Given the description of an element on the screen output the (x, y) to click on. 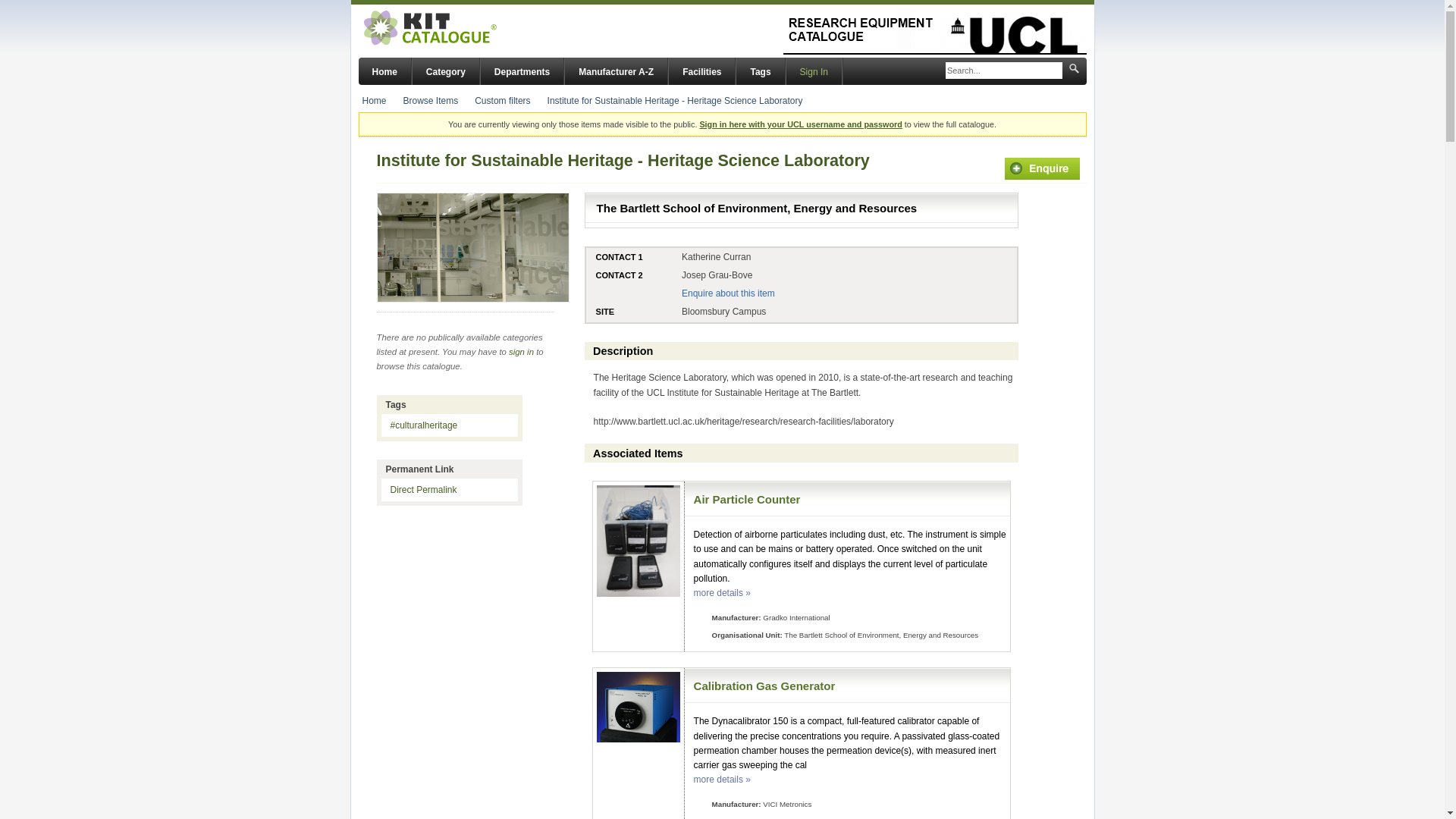
Enquire about this item (727, 293)
Search... (1003, 70)
Custom filters (501, 100)
Air Particle Counter (747, 499)
Tags (760, 71)
Category (445, 71)
Sign In (813, 71)
Departments (521, 71)
Home (384, 71)
Manufacturer A-Z (615, 71)
Calibration Gas Generator (764, 685)
Home (374, 100)
Air Particle Counter (747, 499)
Facilities (701, 71)
